Given the description of an element on the screen output the (x, y) to click on. 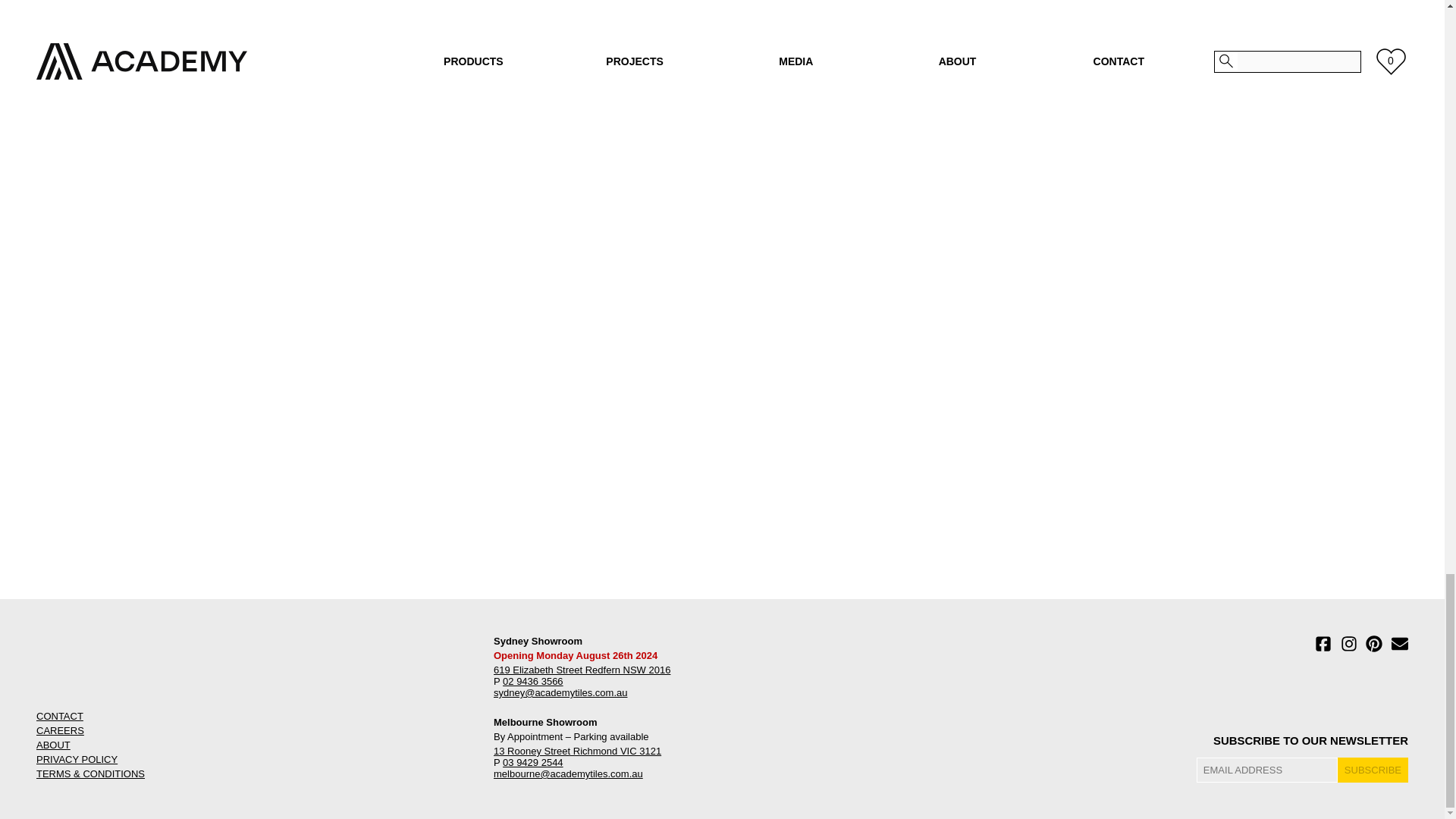
Subscribe (1372, 769)
